Given the description of an element on the screen output the (x, y) to click on. 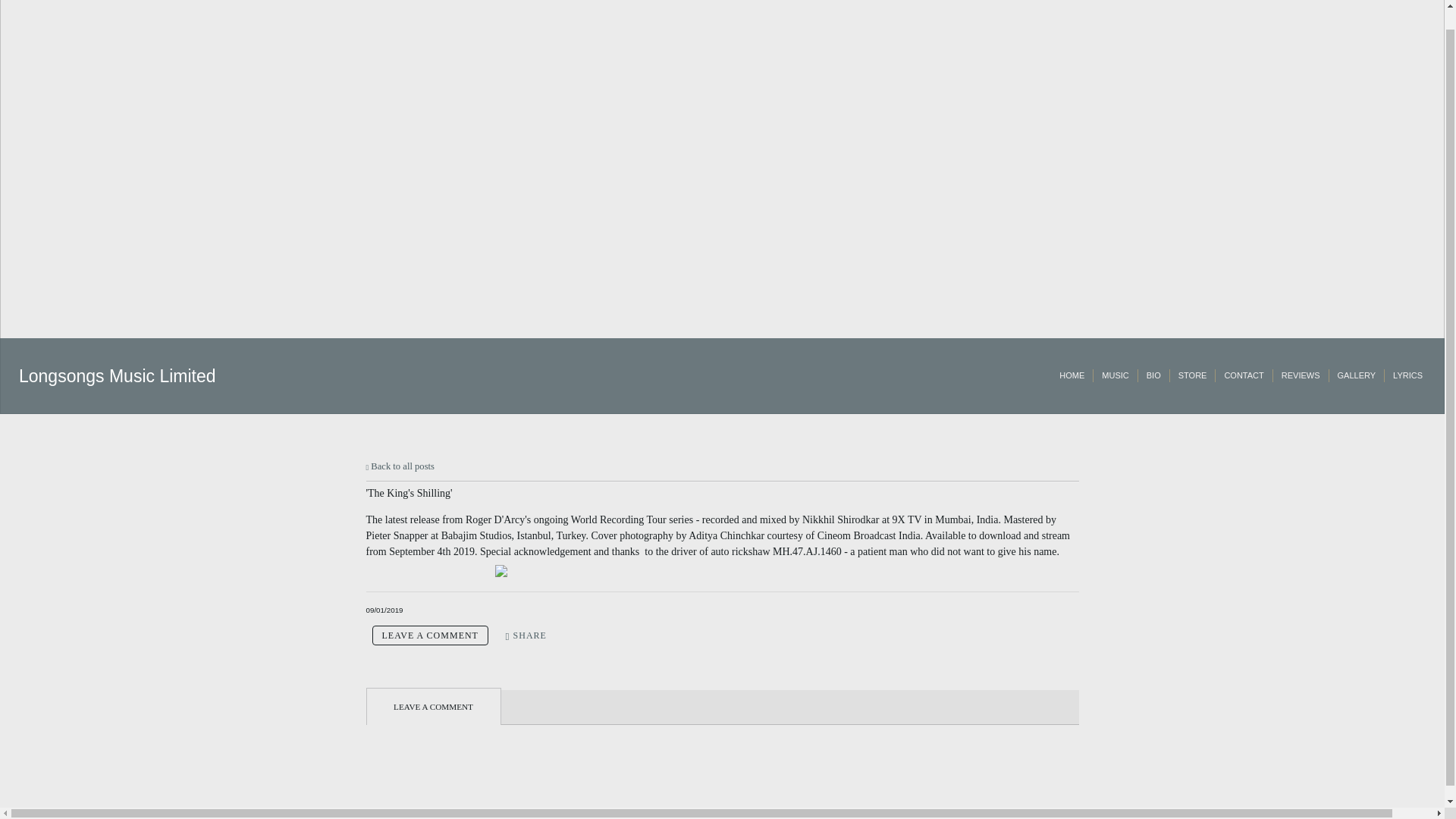
SHARE (526, 635)
Leave a comment (429, 635)
STORE (1192, 375)
Share 'The King's Shilling'  (526, 635)
Back to all posts (399, 466)
BIO (1153, 375)
Powered by Bandzoogle (722, 811)
HOME (1071, 375)
Longsongs Music Limited (116, 375)
GALLERY (1356, 375)
LEAVE A COMMENT (429, 635)
MUSIC (1115, 375)
LYRICS (1407, 375)
REVIEWS (1300, 375)
September 01, 2019 19:07 (384, 610)
